Given the description of an element on the screen output the (x, y) to click on. 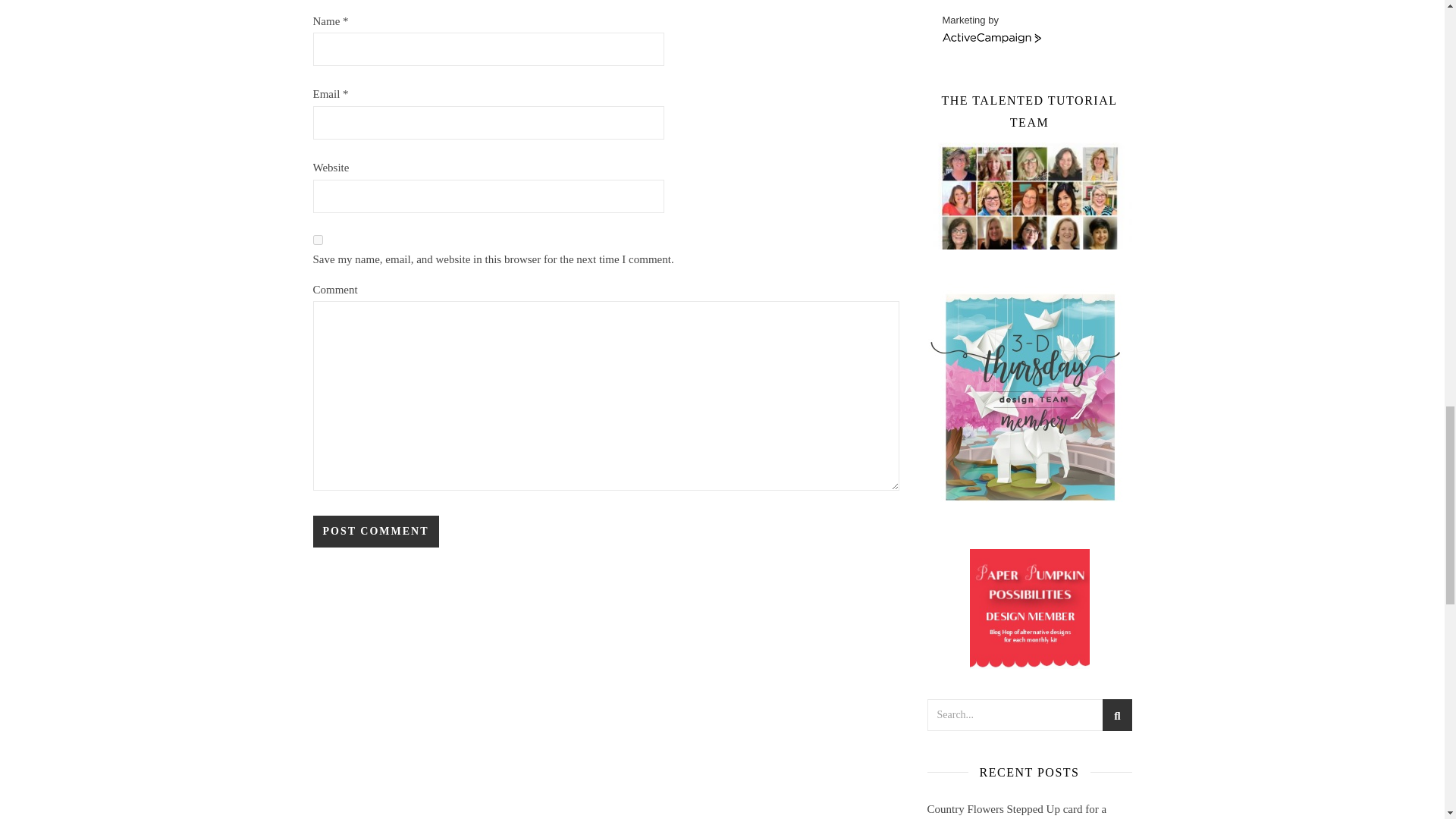
Post Comment (375, 531)
yes (317, 239)
Post Comment (375, 531)
